Given the description of an element on the screen output the (x, y) to click on. 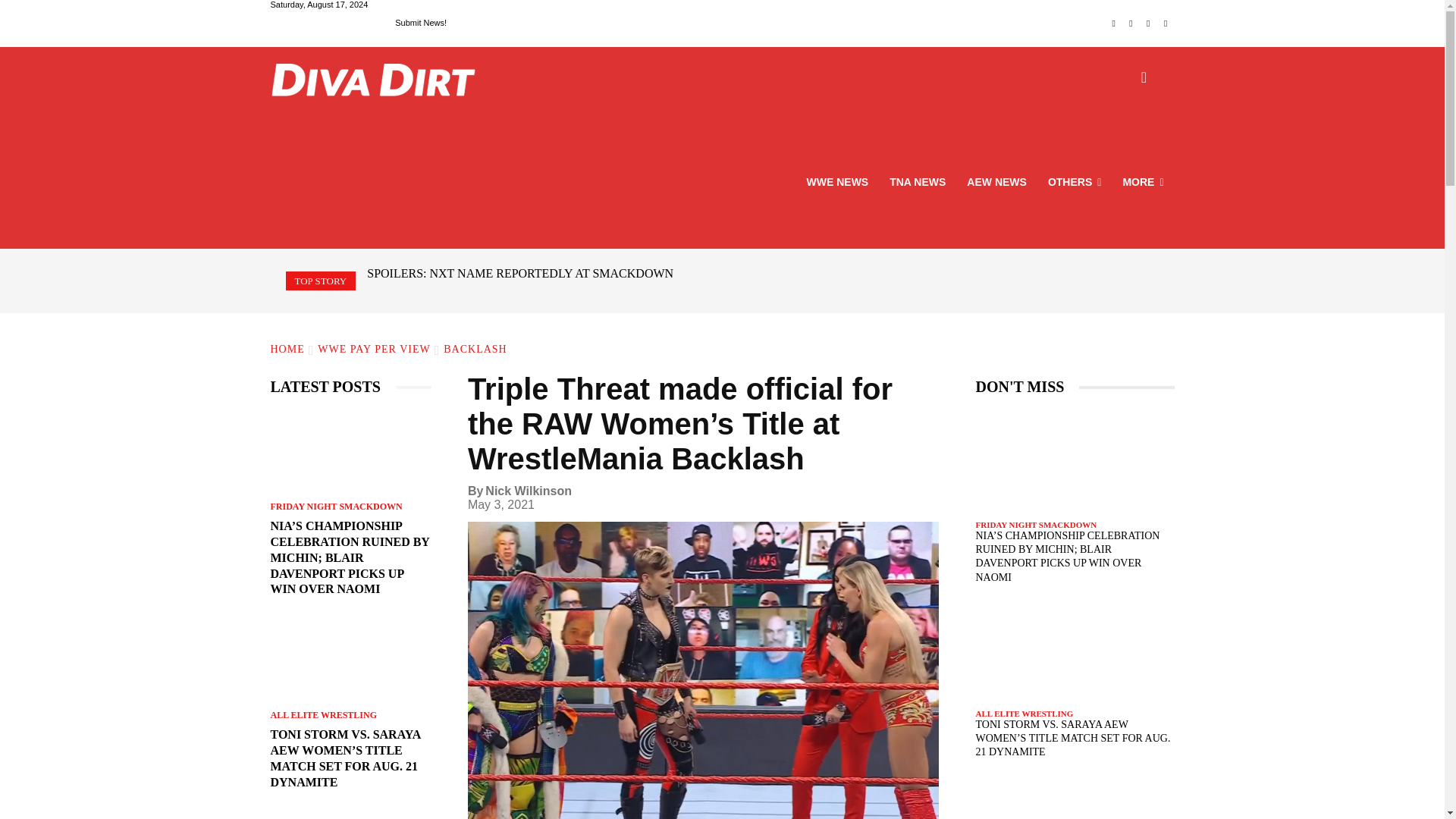
Spoilers: NXT Name Reportedly At SmackDown (519, 273)
View all posts in WWE Pay Per View (373, 348)
Twitter (1148, 23)
Facebook (1113, 23)
Instagram (1131, 23)
View all posts in Backlash (475, 348)
Youtube (1165, 23)
